Given the description of an element on the screen output the (x, y) to click on. 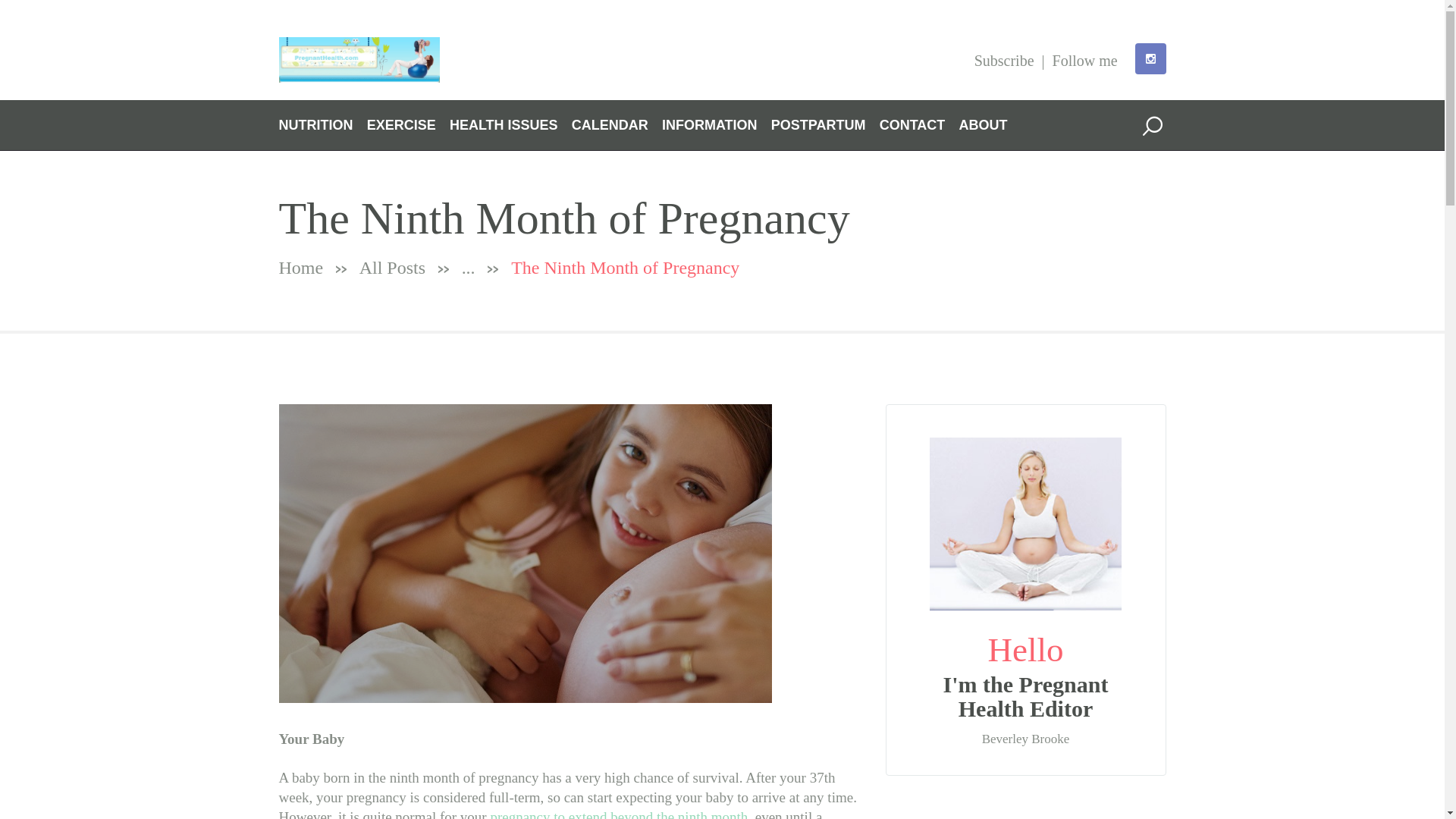
ABOUT (983, 124)
POSTPARTUM (818, 124)
INFORMATION (709, 124)
NUTRITION (316, 124)
HEALTH ISSUES (503, 124)
All Posts (392, 267)
pregnancy to extend beyond the ninth month (618, 814)
Home (301, 268)
CALENDAR (609, 124)
CONTACT (911, 124)
